Given the description of an element on the screen output the (x, y) to click on. 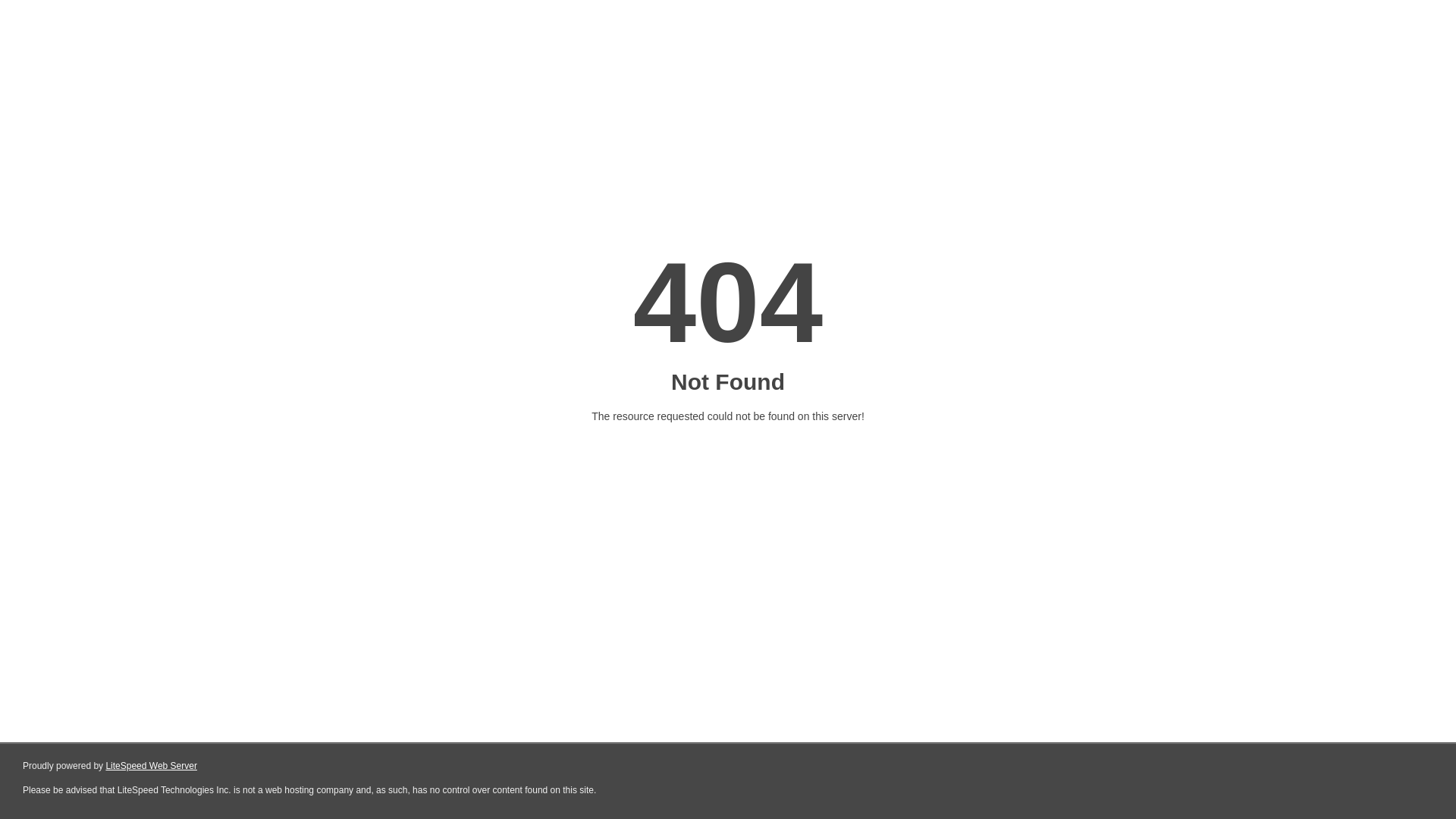
LiteSpeed Web Server Element type: text (151, 765)
